Given the description of an element on the screen output the (x, y) to click on. 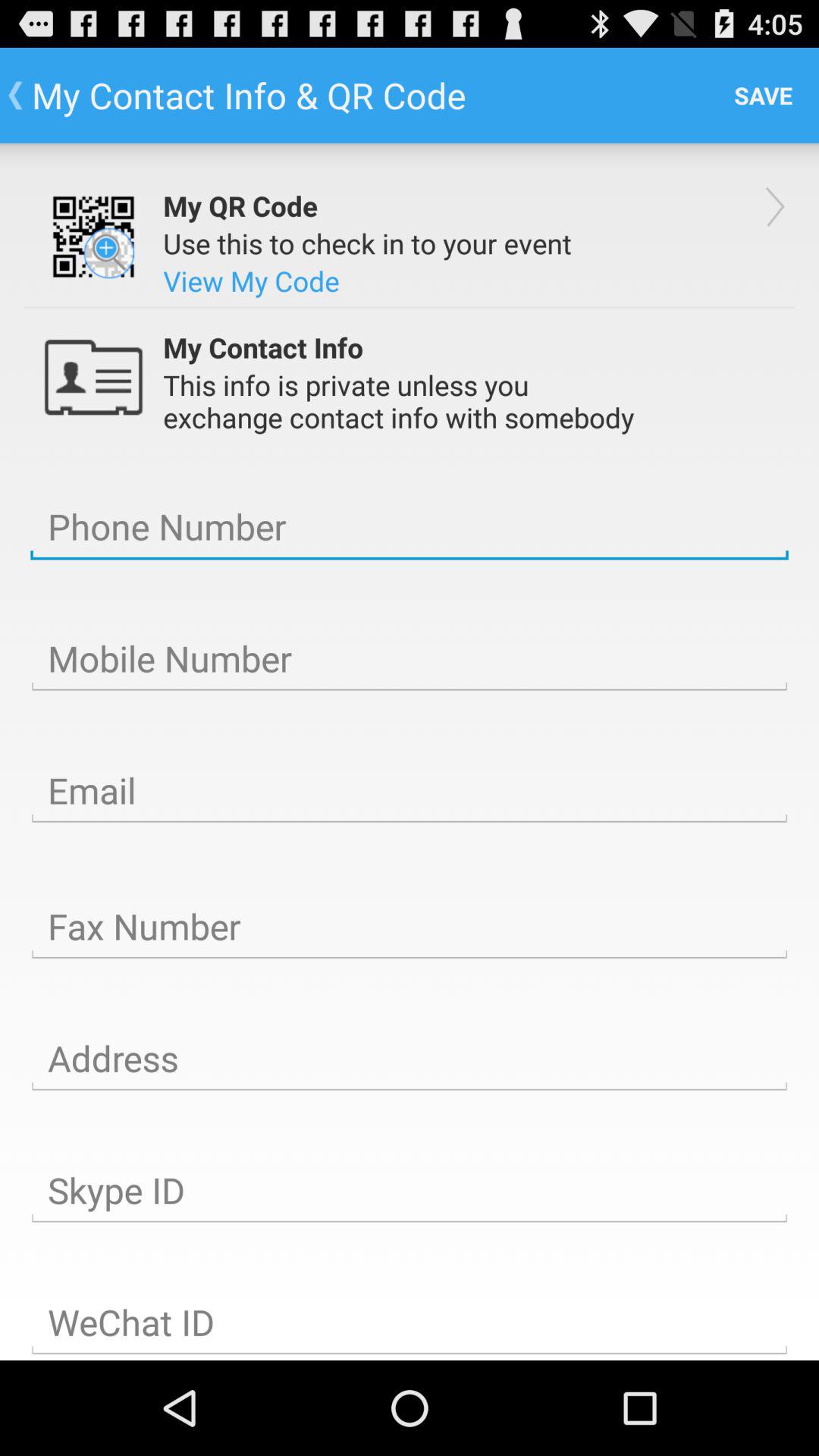
add skype id (409, 1190)
